Given the description of an element on the screen output the (x, y) to click on. 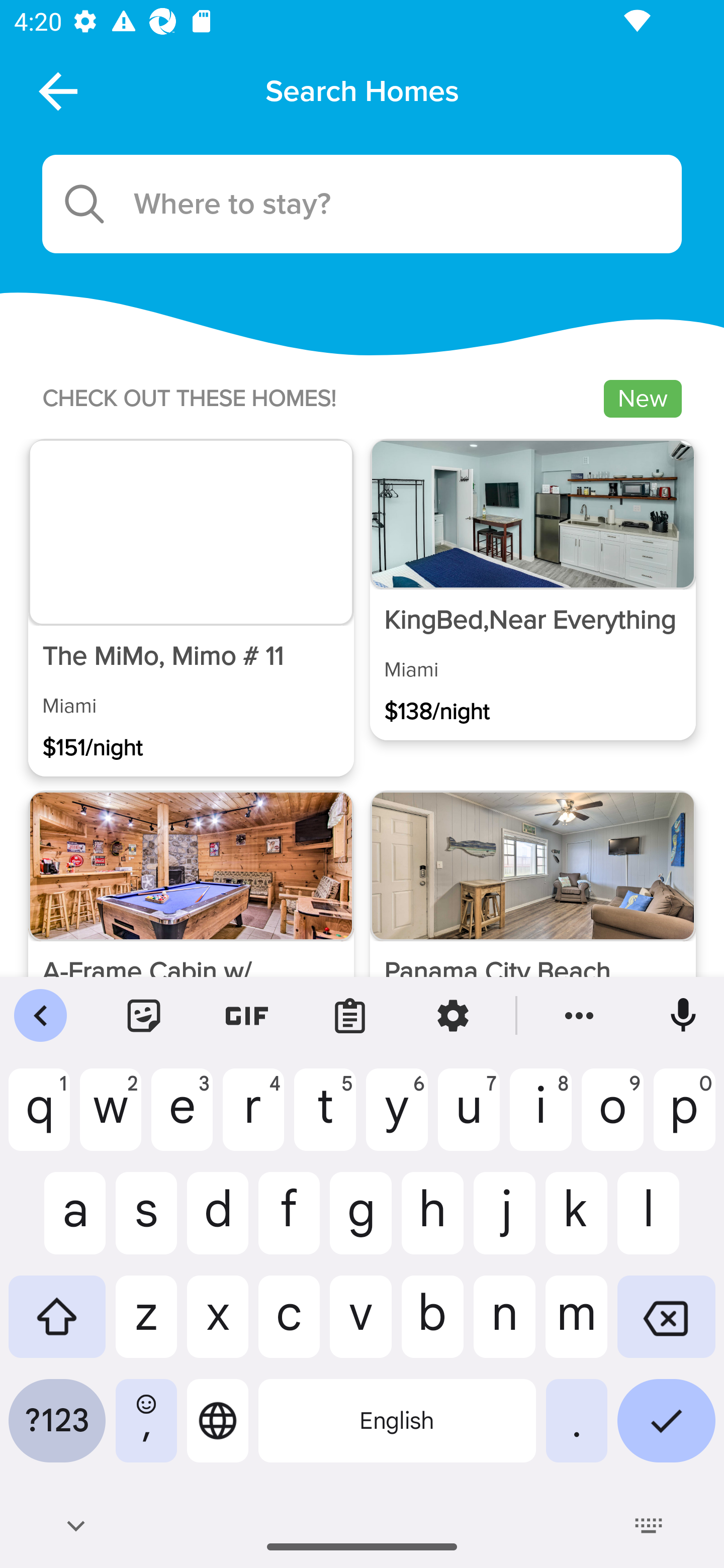
Icon close screen (55, 90)
Search icon Where to stay? (361, 204)
‍Panama City Beach Condo: Pool & Beach Access! (532, 940)
